Given the description of an element on the screen output the (x, y) to click on. 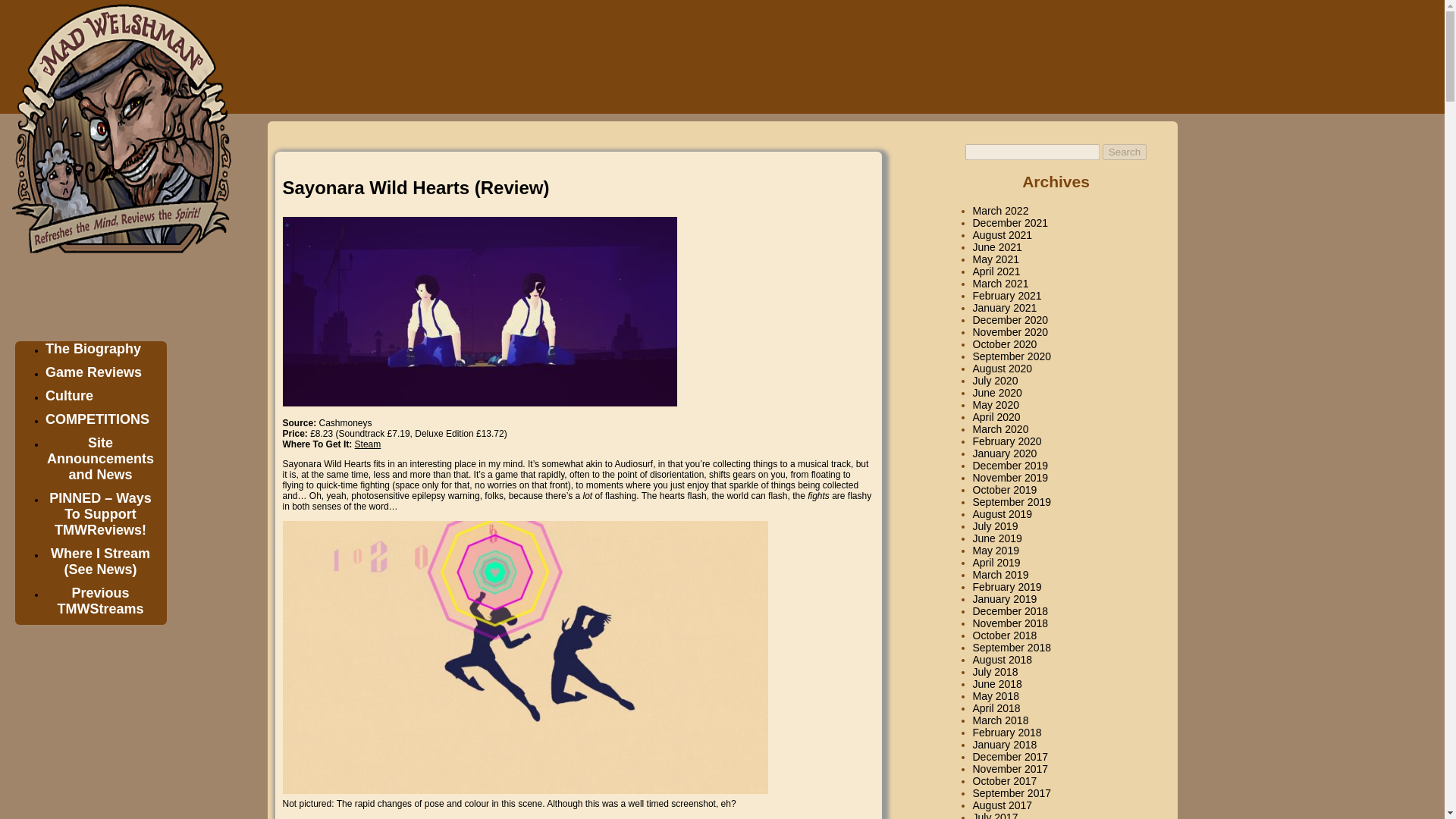
Previous TMWStreams (106, 604)
March 2021 (999, 283)
August 2021 (1002, 234)
June 2021 (997, 246)
March 2022 (999, 210)
Steam (368, 443)
Culture (74, 399)
Site Announcements and News (106, 462)
The Biography (98, 352)
April 2021 (996, 271)
December 2021 (1010, 223)
Game Reviews (98, 376)
Search (1124, 151)
May 2021 (994, 259)
Search (1124, 151)
